Given the description of an element on the screen output the (x, y) to click on. 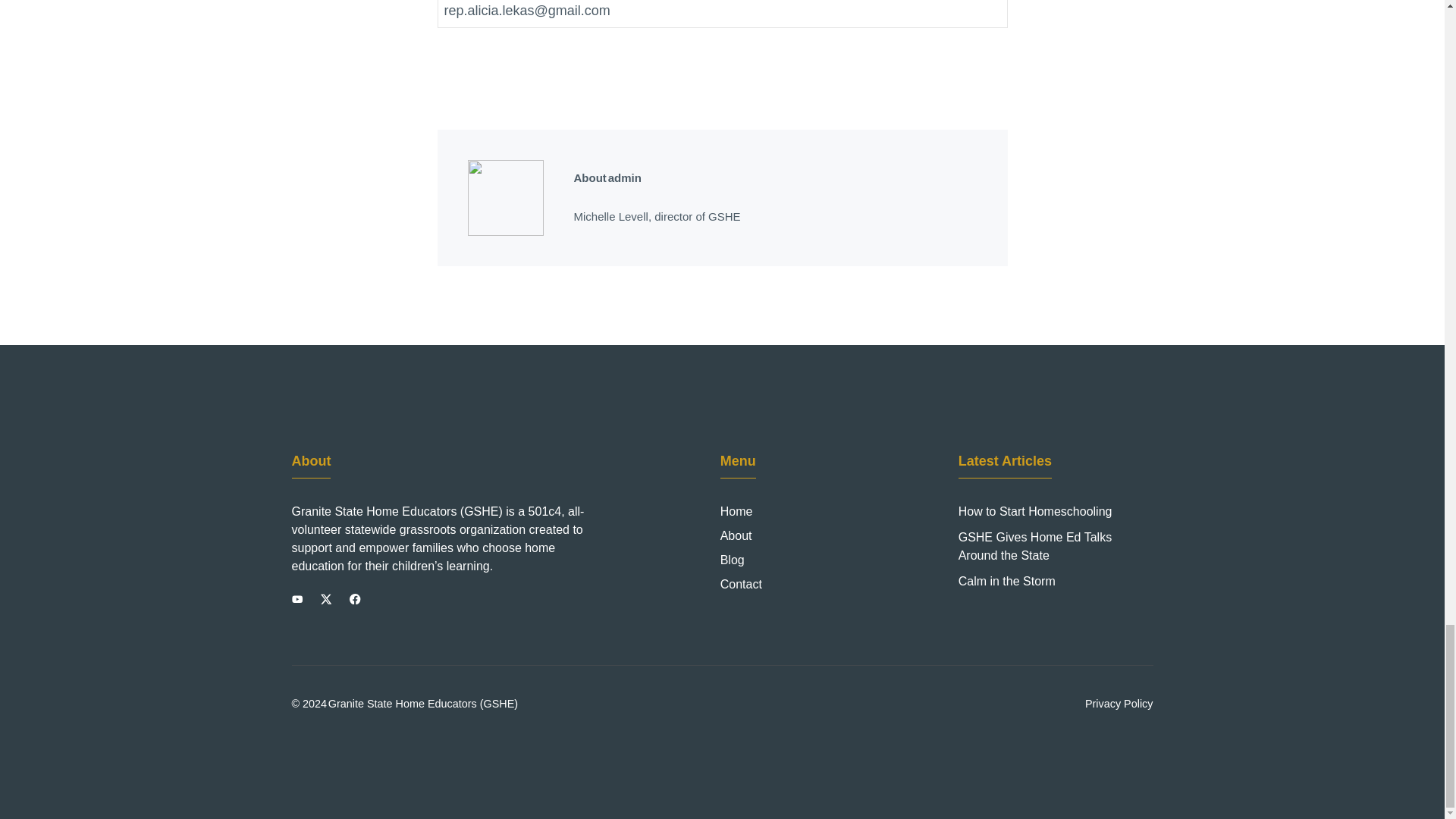
Blog (732, 560)
GSHE Gives Home Ed Talks Around the State (1035, 545)
About (736, 536)
Contact (740, 584)
Calm in the Storm (1006, 581)
Privacy Policy (1118, 703)
How to Start Homeschooling (1035, 511)
Home (736, 511)
